Given the description of an element on the screen output the (x, y) to click on. 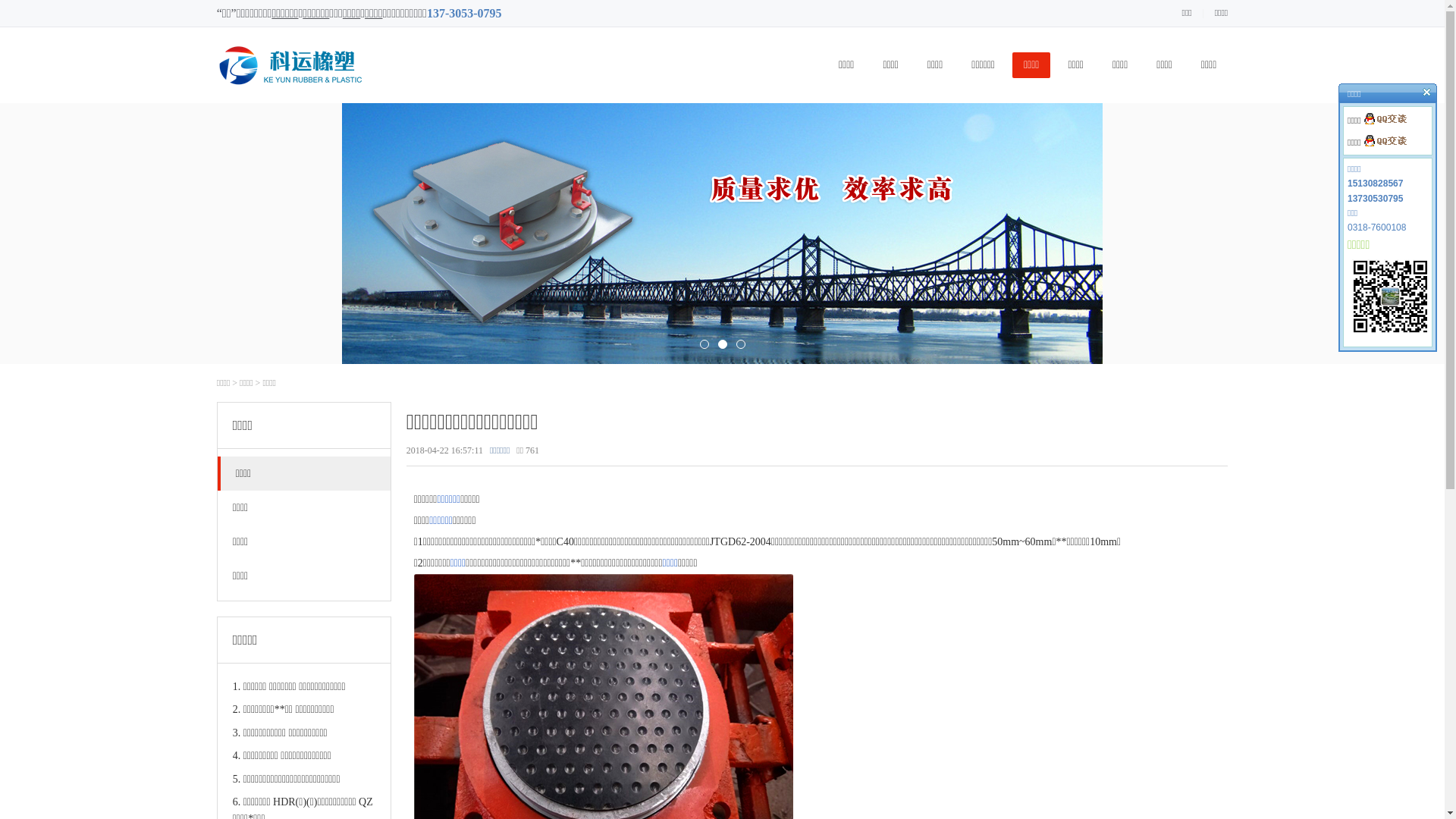
2 Element type: text (721, 343)
1510717705110961.jpg Element type: hover (1390, 296)
3 Element type: text (739, 343)
1 Element type: text (703, 343)
